Given the description of an element on the screen output the (x, y) to click on. 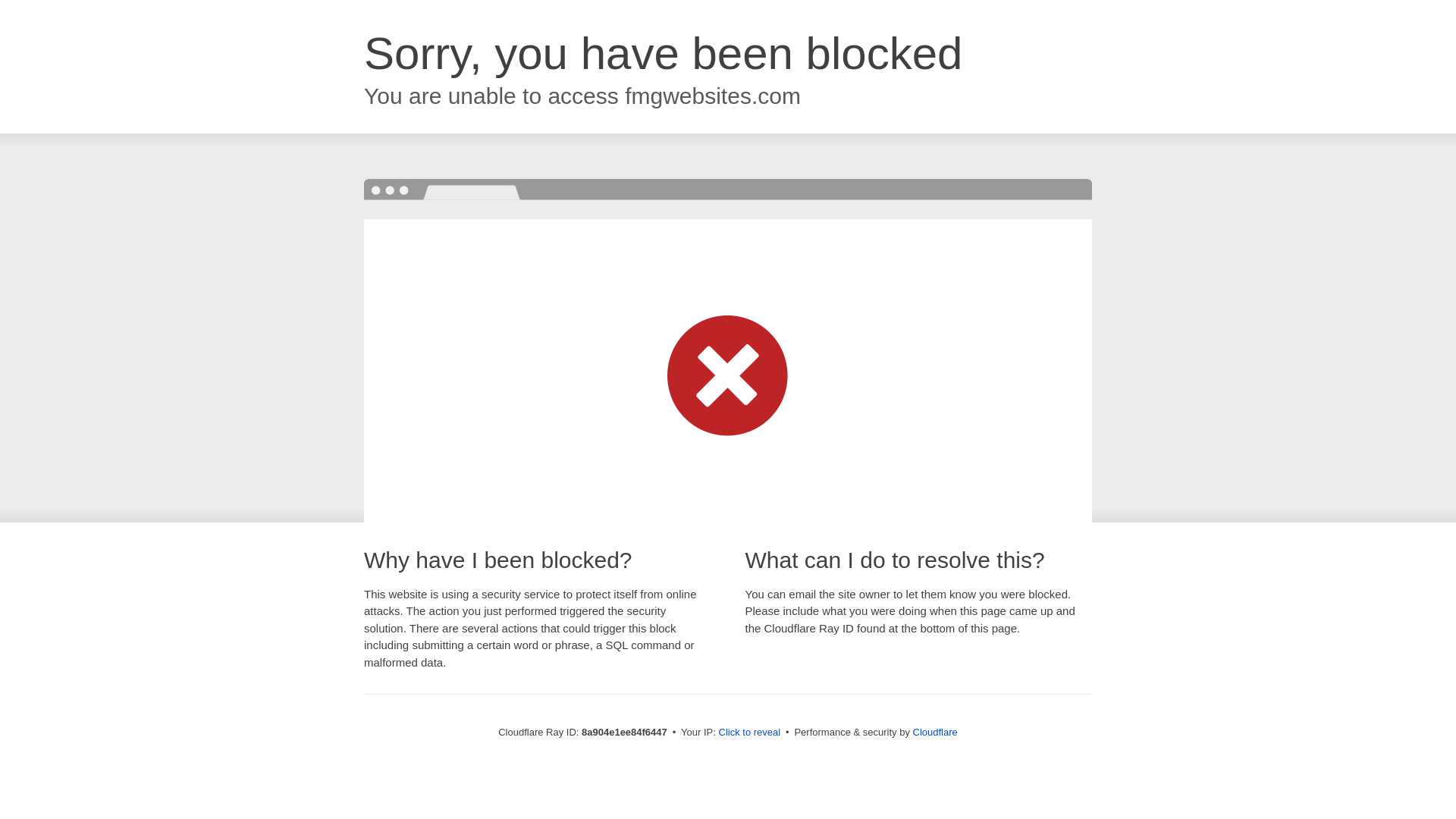
Click to reveal (749, 732)
Cloudflare (935, 731)
